Given the description of an element on the screen output the (x, y) to click on. 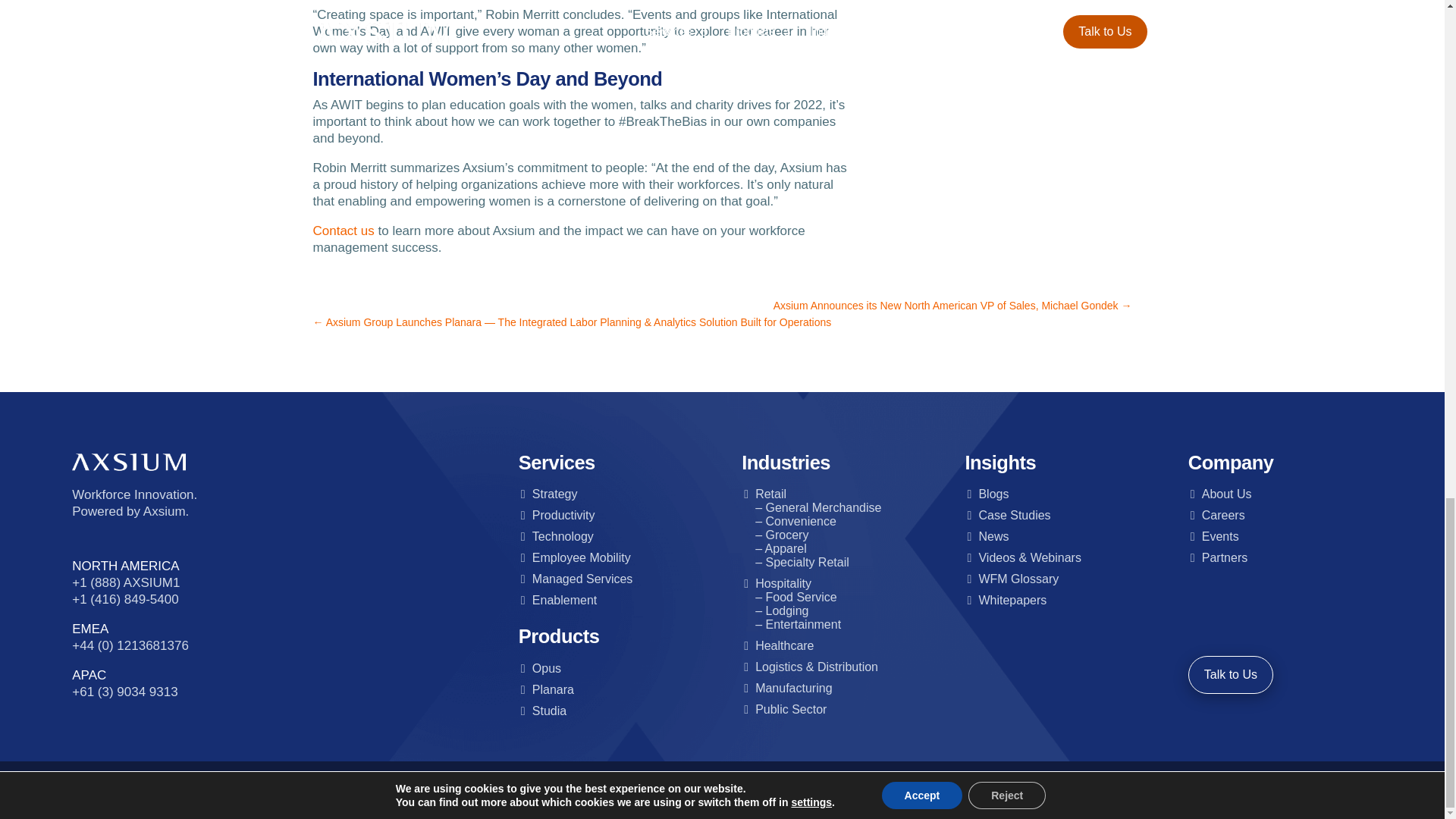
Logo White (128, 462)
Accessibility Policy and AODA Plan 2023 (778, 789)
